Given the description of an element on the screen output the (x, y) to click on. 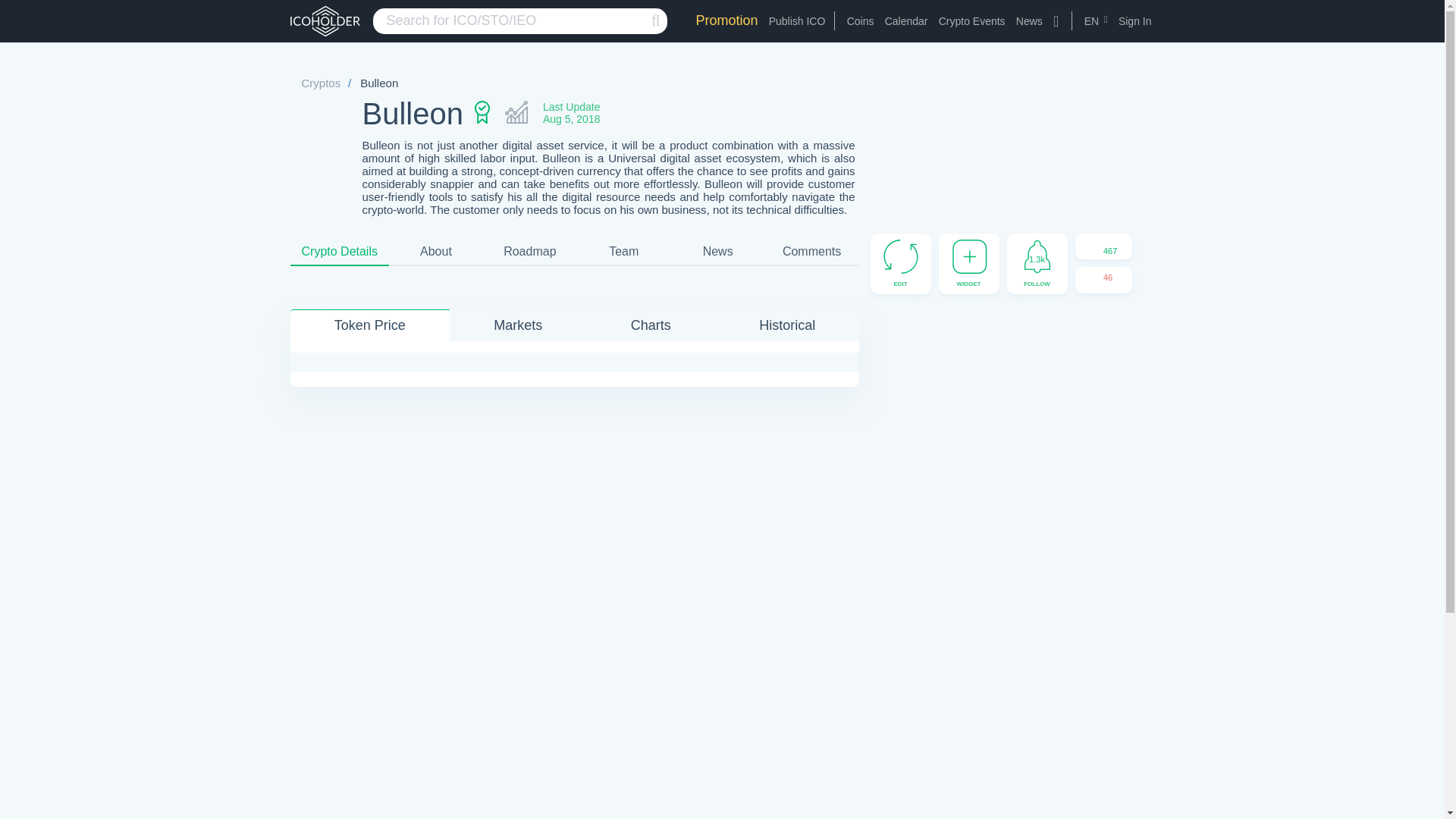
News (1029, 21)
Sign In (1134, 21)
Comments (811, 251)
About (435, 251)
Roadmap (530, 251)
About (435, 251)
Publish ICO (796, 21)
Crypto Details (339, 251)
Crypto Details (339, 251)
Team (623, 251)
